Given the description of an element on the screen output the (x, y) to click on. 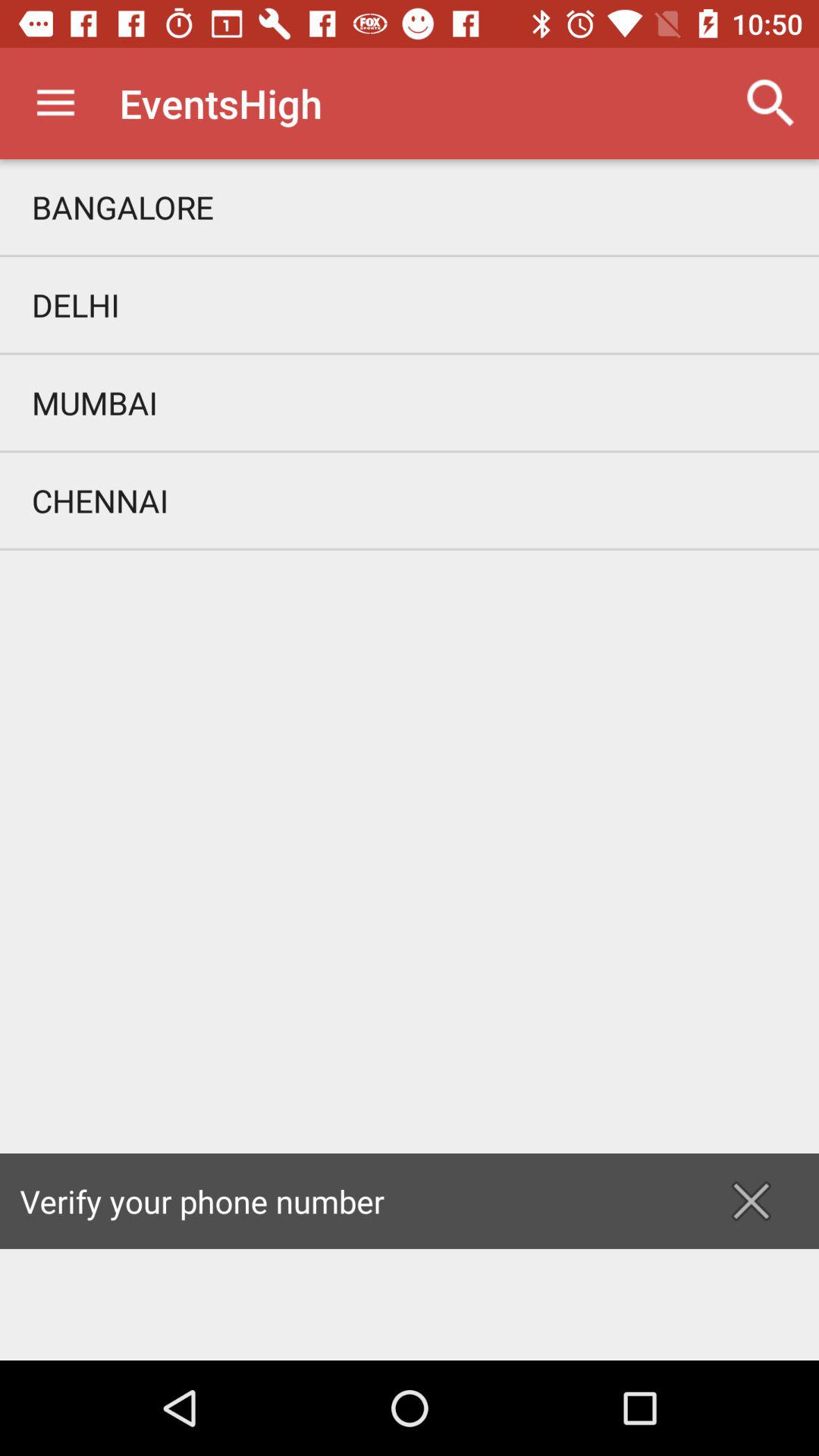
tap item above delhi icon (409, 206)
